Given the description of an element on the screen output the (x, y) to click on. 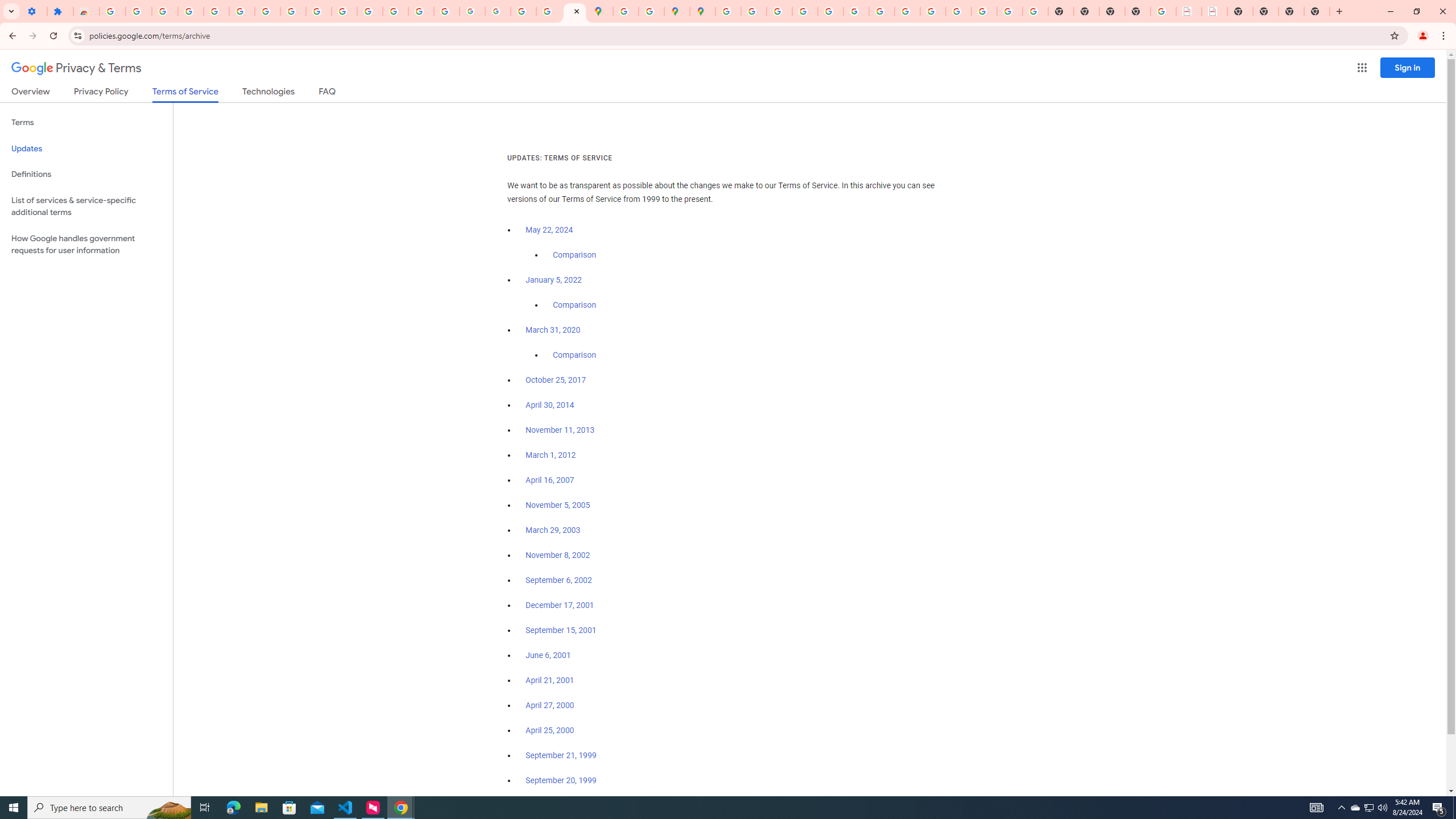
YouTube (881, 11)
Privacy Help Center - Policies Help (804, 11)
YouTube (318, 11)
Google Images (1034, 11)
March 31, 2020 (552, 330)
April 27, 2000 (550, 705)
April 16, 2007 (550, 480)
